Given the description of an element on the screen output the (x, y) to click on. 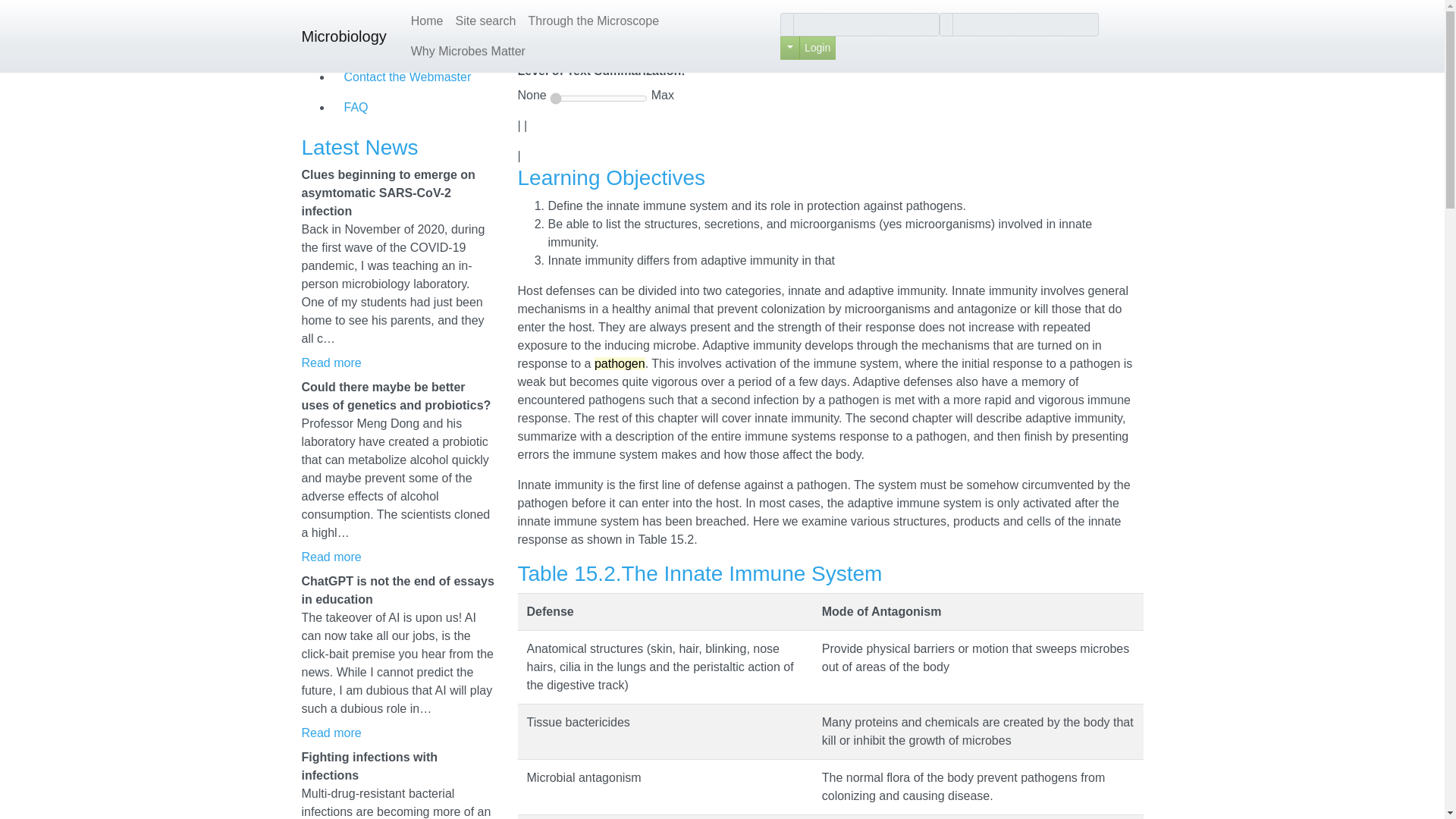
Contact the Webmaster (413, 77)
Read more (331, 362)
Why Microbes Matter (467, 51)
Read more (331, 732)
1 (598, 98)
Through the Microscope (593, 20)
Login (817, 47)
Site search (484, 20)
Read more (331, 362)
An organism that causes disease in another organsim (619, 363)
Read more (331, 556)
Read more (331, 732)
FAQ (413, 107)
Read more (331, 556)
Contact the Author (413, 46)
